Given the description of an element on the screen output the (x, y) to click on. 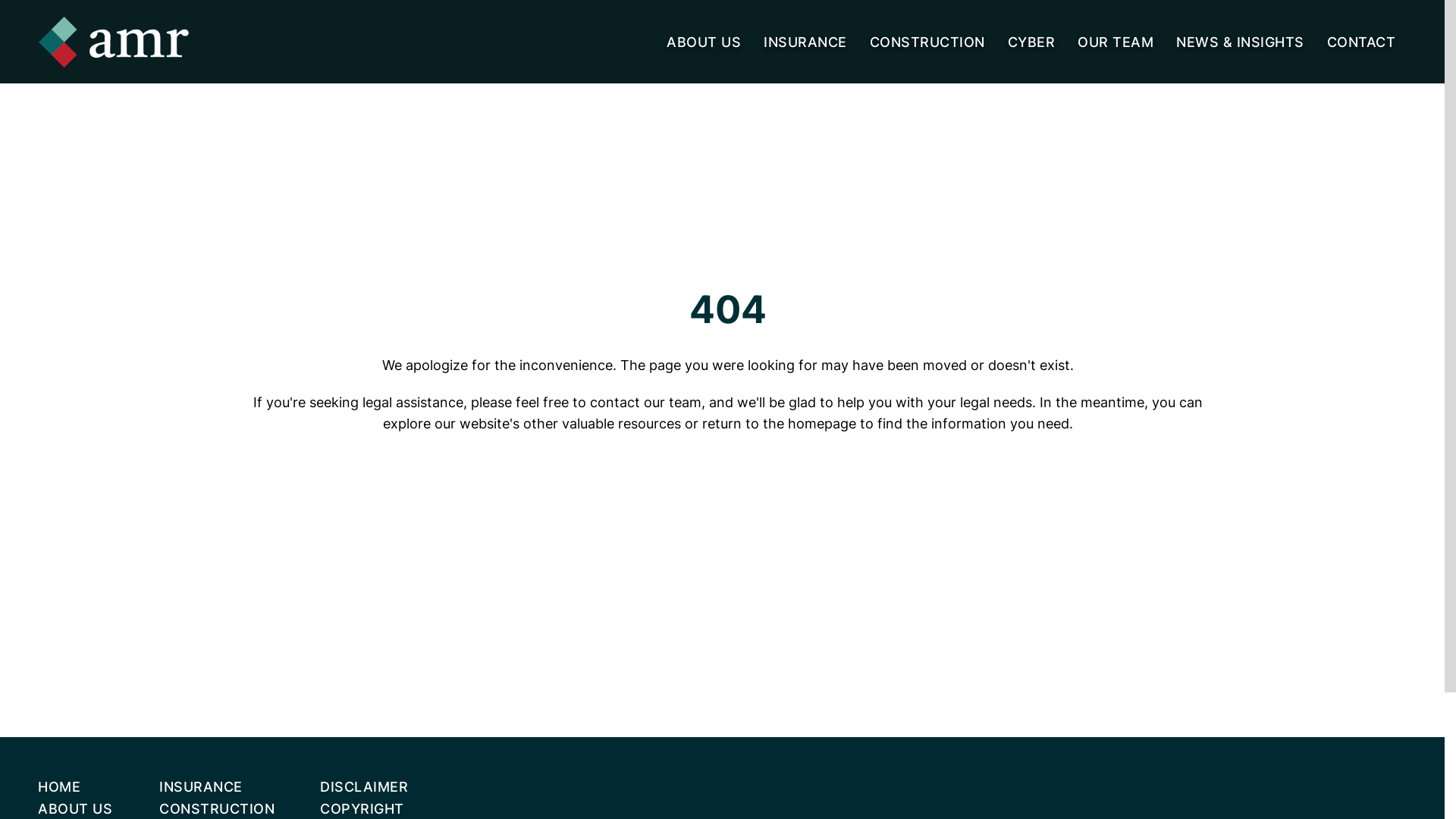
ABOUT US Element type: text (74, 808)
INSURANCE Element type: text (805, 41)
CONSTRUCTION Element type: text (926, 41)
INSURANCE Element type: text (200, 786)
CYBER Element type: text (1030, 41)
OUR TEAM Element type: text (1115, 41)
DISCLAIMER Element type: text (363, 786)
NEWS & INSIGHTS Element type: text (1240, 41)
CONSTRUCTION Element type: text (216, 808)
CONTACT Element type: text (1361, 41)
ABOUT US Element type: text (703, 41)
COPYRIGHT Element type: text (362, 808)
HOME Element type: text (58, 786)
